Given the description of an element on the screen output the (x, y) to click on. 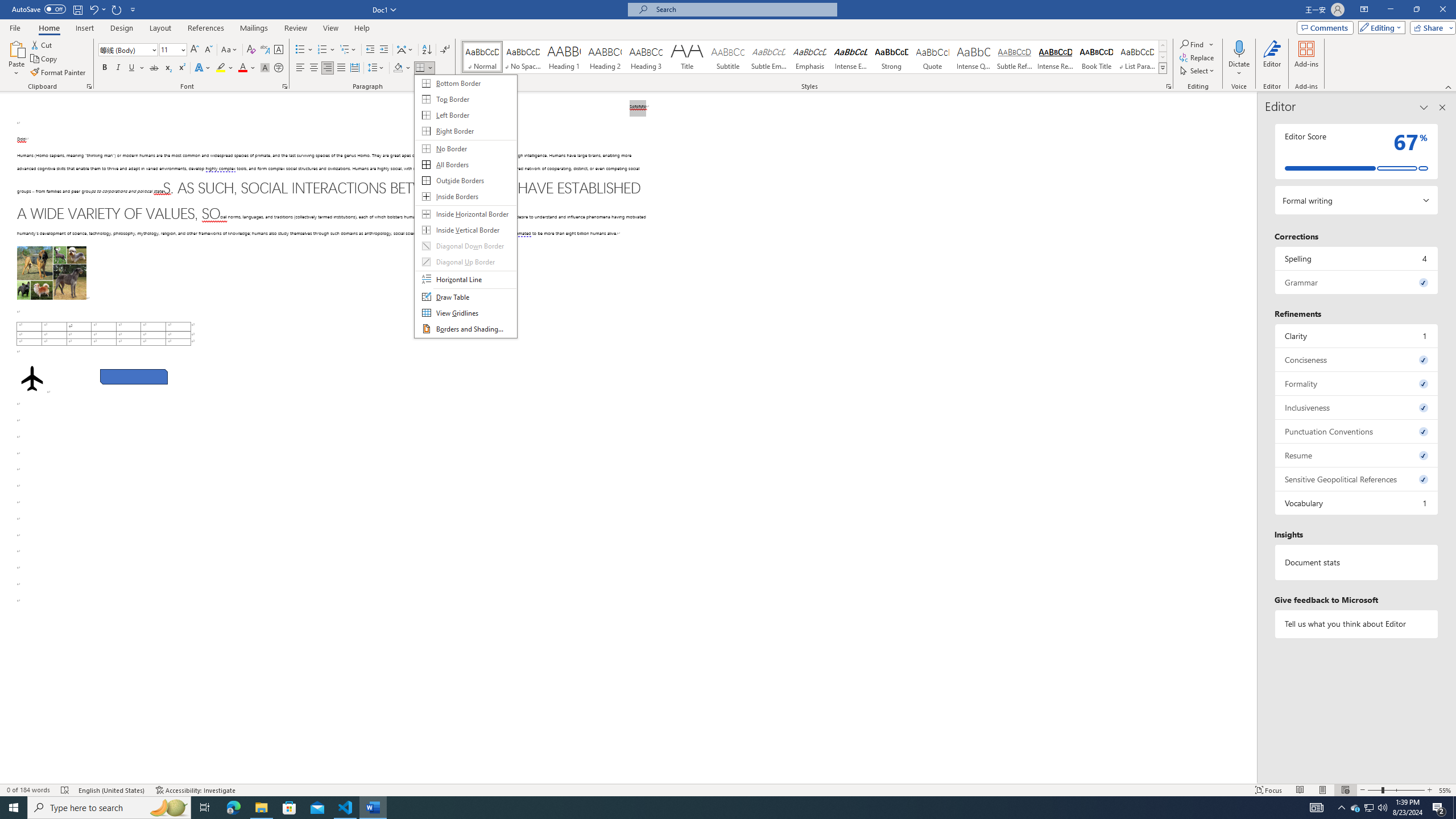
Rectangle: Diagonal Corners Snipped 2 (133, 376)
Multilevel List (347, 49)
Collapse the Ribbon (1448, 86)
Title (686, 56)
Change Case (229, 49)
Design (122, 28)
Quote (932, 56)
&Borders (1355, 807)
Conciseness, 0 issues. Press space or enter to review items. (464, 206)
Running applications (1356, 359)
Subtle Emphasis (717, 807)
Select (768, 56)
